Given the description of an element on the screen output the (x, y) to click on. 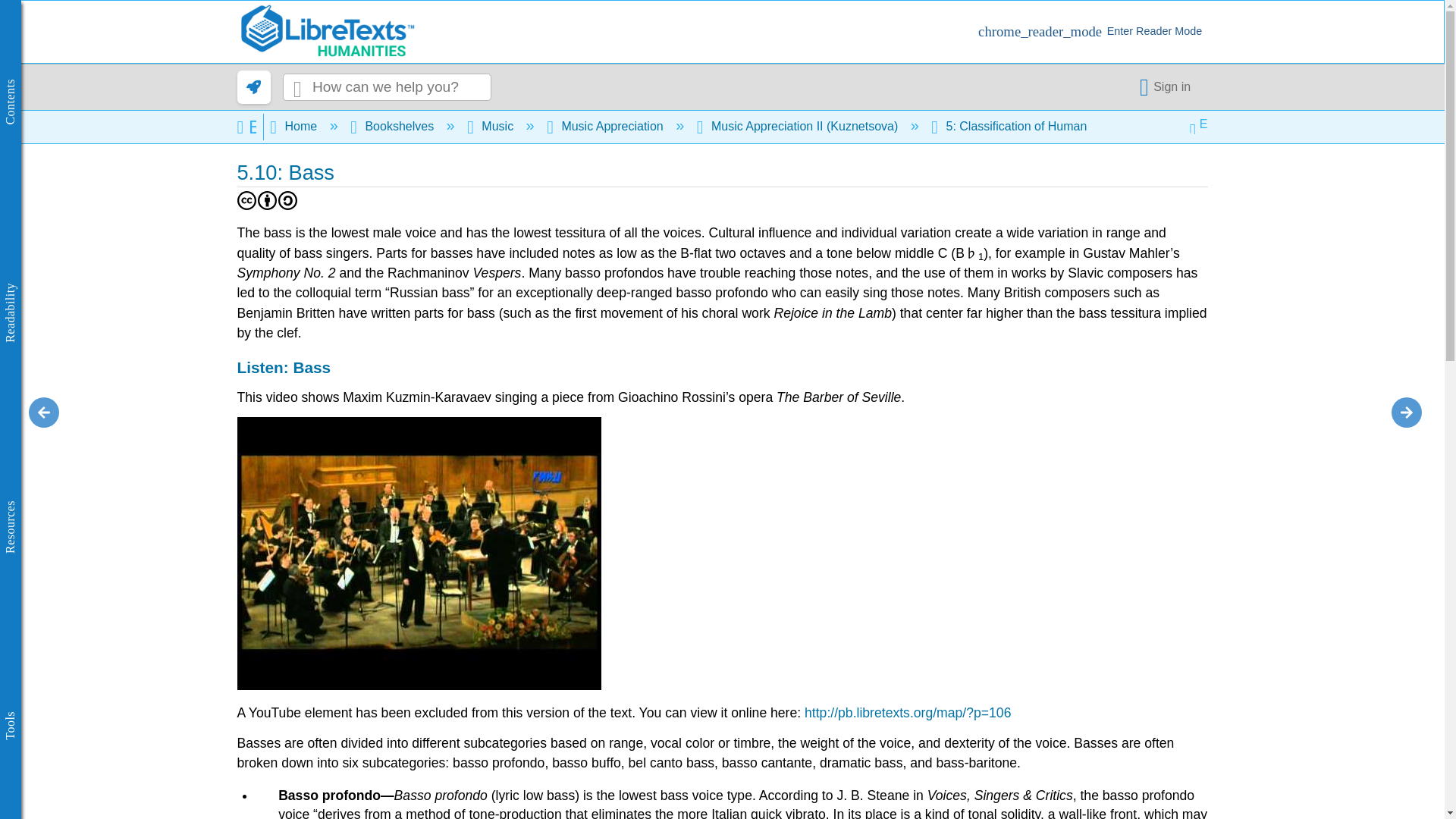
CC (246, 199)
BY (267, 199)
Single Sign-On (1167, 86)
SA (287, 199)
